Given the description of an element on the screen output the (x, y) to click on. 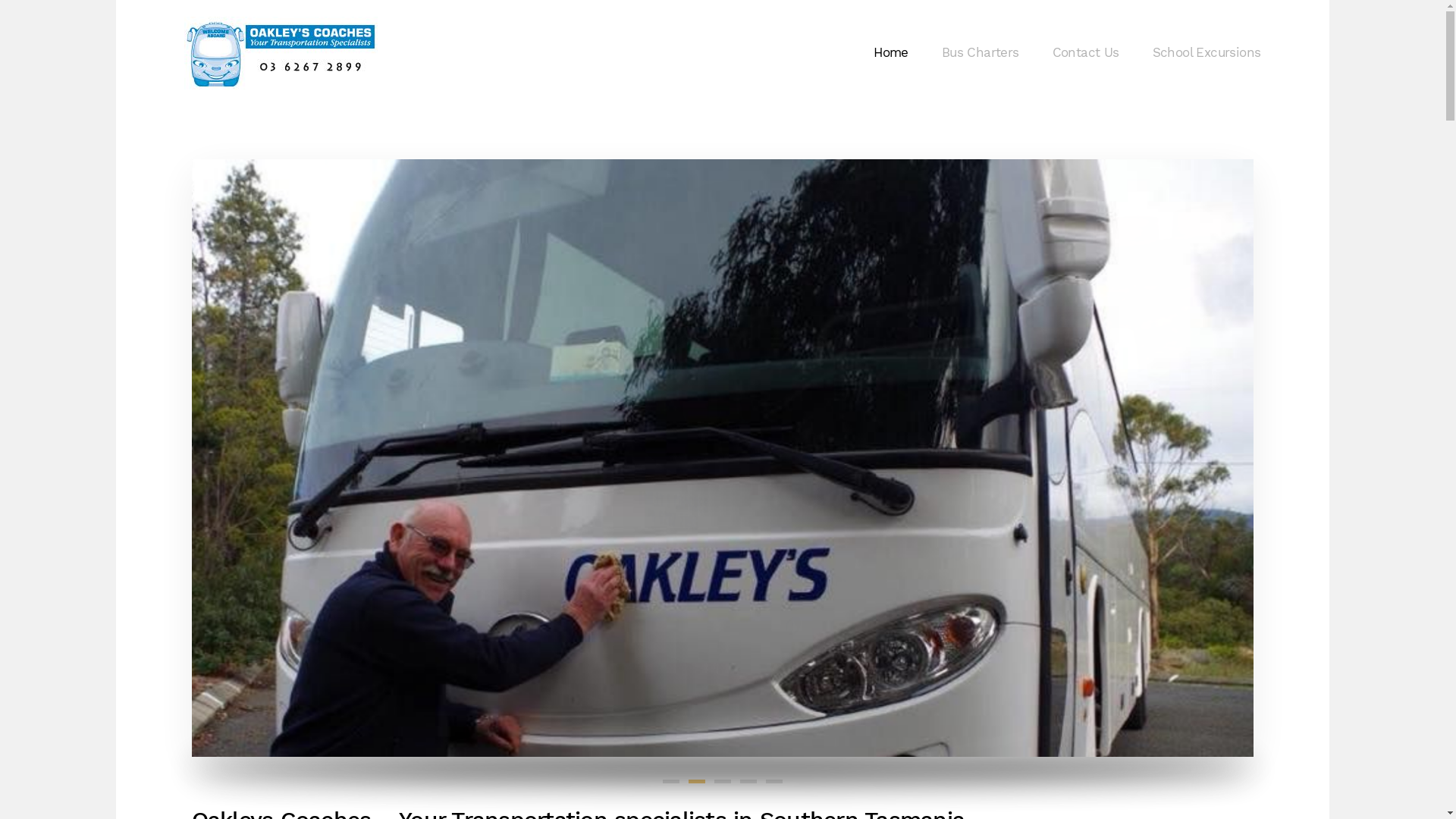
Weddings Element type: text (773, 781)
School Excursions Element type: text (1206, 53)
Our Coaches Element type: text (670, 781)
Contact Us Element type: text (1085, 53)
Professional Drivers Element type: text (696, 781)
Bucks Parties Element type: text (748, 781)
Bus Charters Element type: text (980, 53)
Home Element type: text (890, 53)
